Given the description of an element on the screen output the (x, y) to click on. 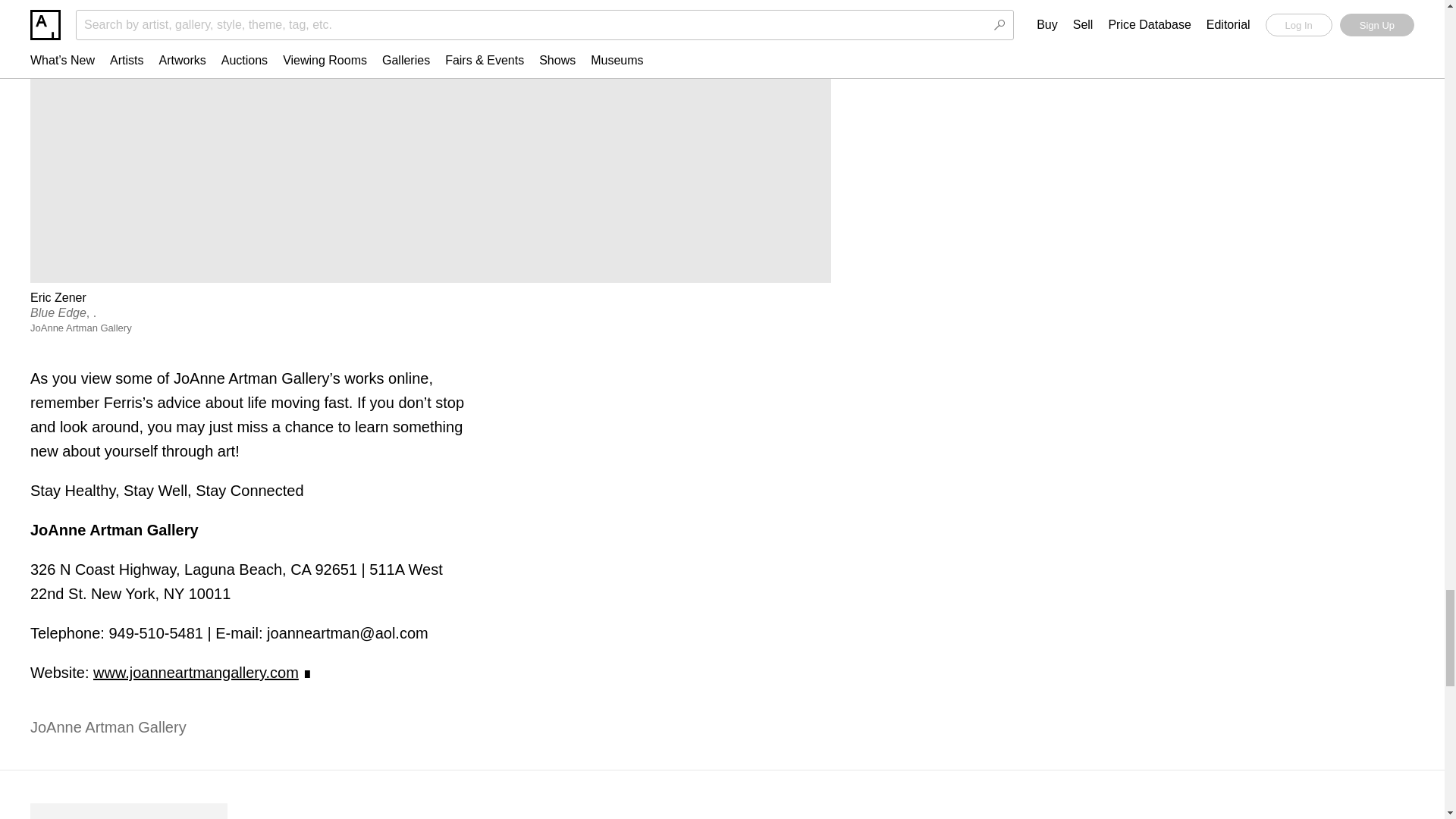
www.joanneartmangallery.com (195, 672)
